Given the description of an element on the screen output the (x, y) to click on. 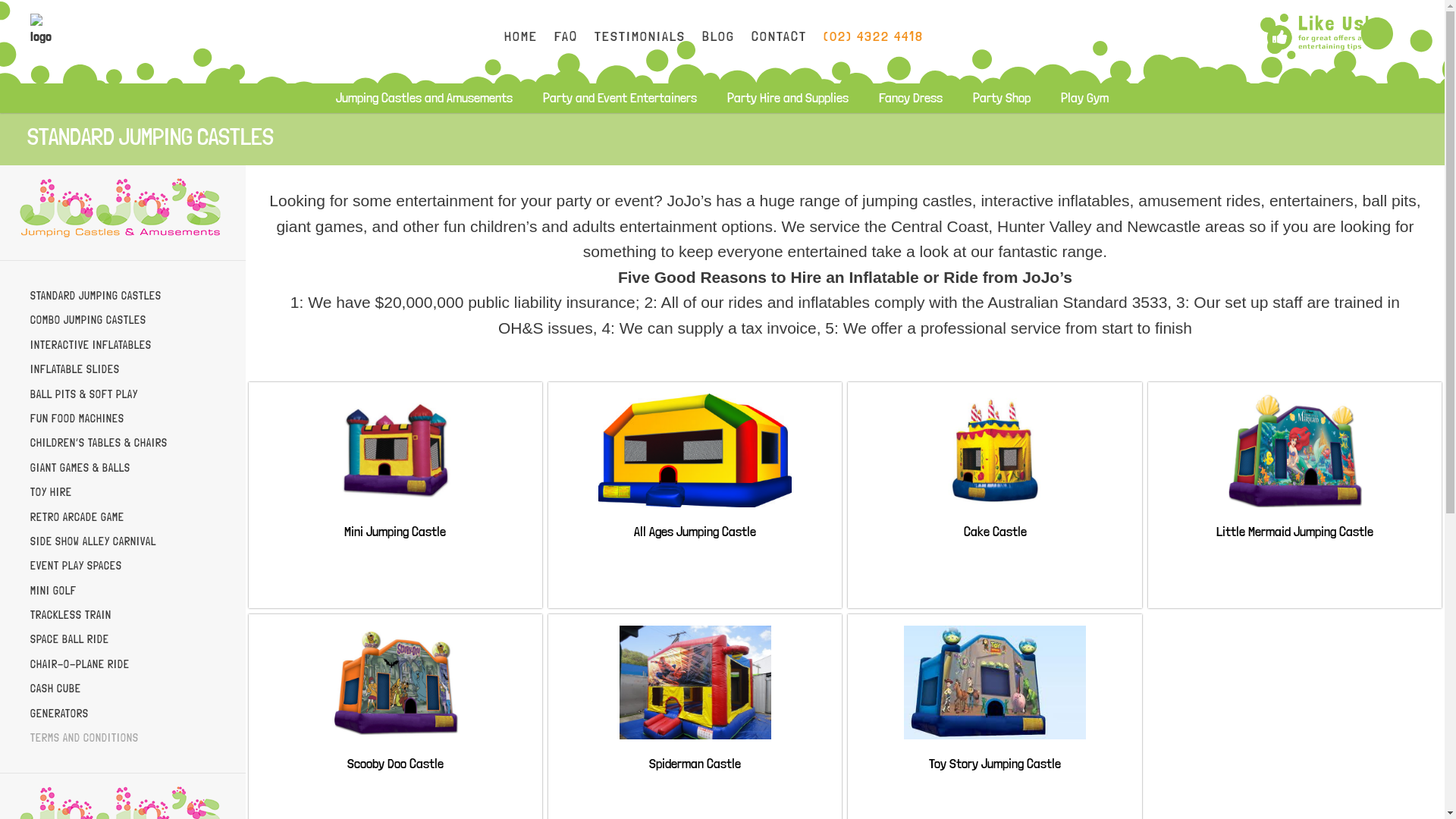
HOME Element type: text (519, 36)
Toy Story Jumping Castle Element type: text (994, 756)
INTERACTIVE INFLATABLES Element type: text (90, 344)
STANDARD JUMPING CASTLES Element type: text (95, 295)
FIND US ON Element type: text (1317, 36)
Party Shop Element type: text (1001, 97)
BALL PITS & SOFT PLAY Element type: text (84, 394)
GENERATORS Element type: text (59, 713)
Cake Castle Element type: text (994, 523)
Spiderman Castle Element type: text (694, 756)
RETRO ARCADE GAME Element type: text (77, 517)
CONTACT Element type: text (778, 36)
GIANT GAMES & BALLS Element type: text (80, 467)
TERMS AND CONDITIONS Element type: text (84, 737)
All Ages Jumping Castle Element type: text (694, 523)
EVENT PLAY SPACES Element type: text (76, 565)
CASH CUBE Element type: text (55, 688)
Scooby Doo Castle Element type: text (395, 756)
Party Hire and Supplies Element type: text (787, 97)
TRACKLESS TRAIN Element type: text (70, 614)
SIDE SHOW ALLEY CARNIVAL Element type: text (93, 541)
CHAIR-O-PLANE RIDE Element type: text (79, 664)
Jumping Castles and Amusements Element type: text (423, 97)
FAQ Element type: text (565, 36)
FUN FOOD MACHINES Element type: text (77, 418)
Party and Event Entertainers Element type: text (619, 97)
TESTIMONIALS Element type: text (639, 36)
COMBO JUMPING CASTLES Element type: text (88, 319)
(02) 4322 4418 Element type: text (873, 36)
Play Gym Element type: text (1084, 97)
INFLATABLE SLIDES Element type: text (74, 369)
BLOG Element type: text (718, 36)
Mini Jumping Castle Element type: text (394, 523)
TOY HIRE Element type: text (51, 492)
Fancy Dress Element type: text (910, 97)
MINI GOLF Element type: text (53, 590)
Little Mermaid Jumping Castle Element type: text (1294, 523)
SPACE BALL RIDE Element type: text (69, 639)
